Given the description of an element on the screen output the (x, y) to click on. 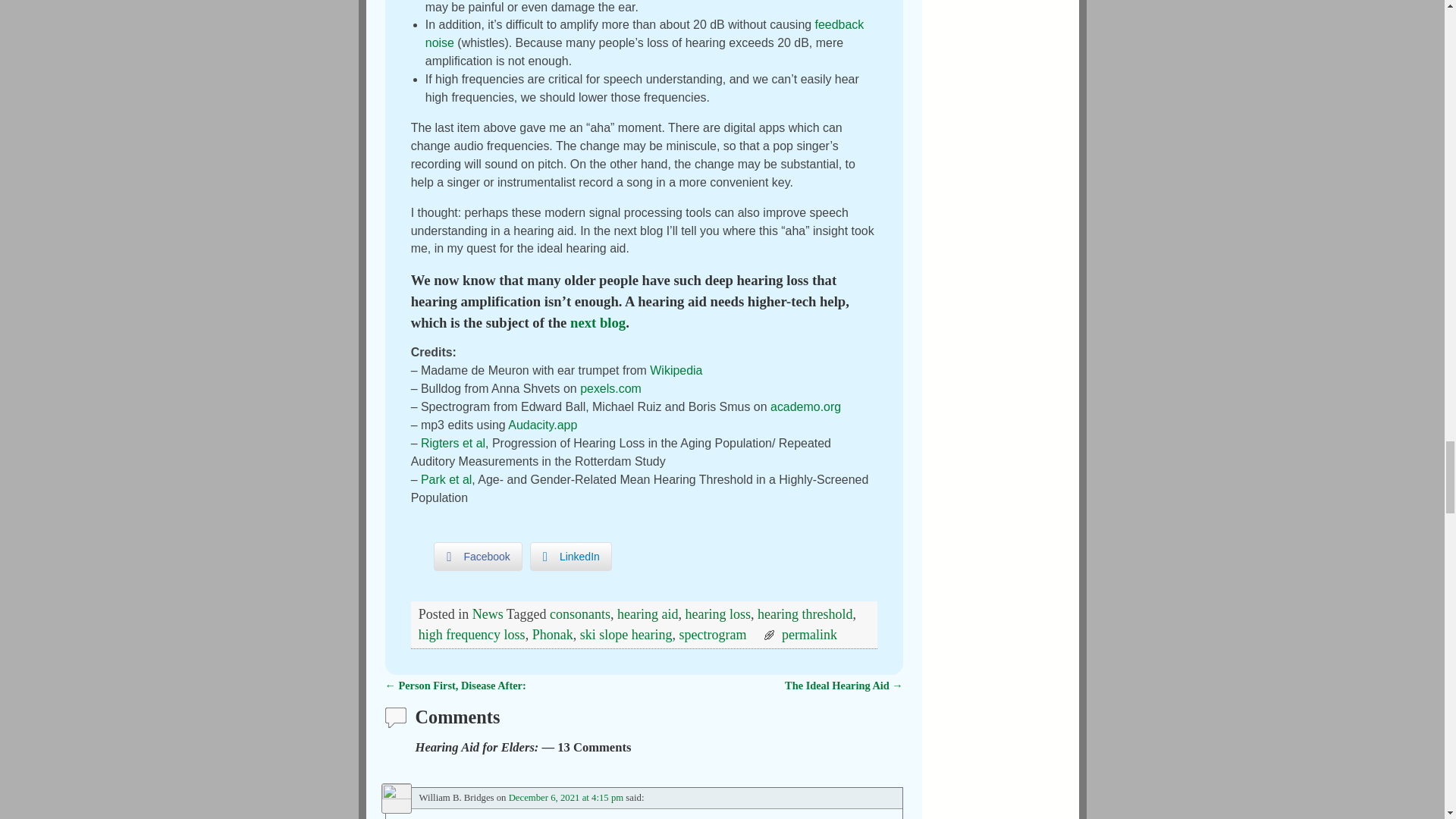
Wikipedia (675, 369)
next blog (598, 322)
feedback noise (644, 33)
pexels.com (610, 388)
academo.org (805, 406)
Permalink to Hearing Aid for Elders: (809, 634)
Audacity.app (542, 424)
